Given the description of an element on the screen output the (x, y) to click on. 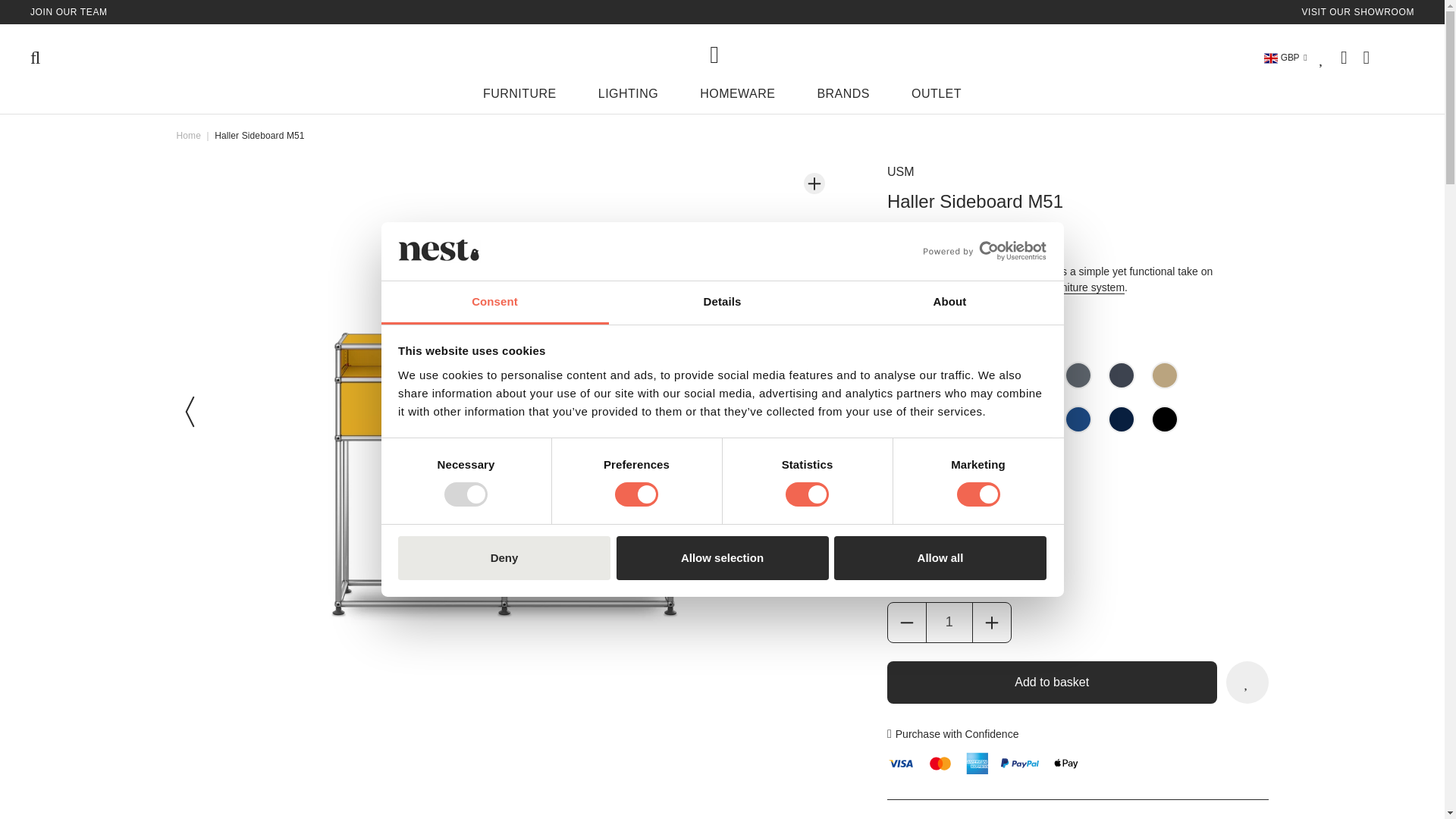
Made to order in approx. 8 weeks (984, 532)
1 (949, 621)
About (948, 302)
Details (721, 302)
Consent (494, 302)
